Given the description of an element on the screen output the (x, y) to click on. 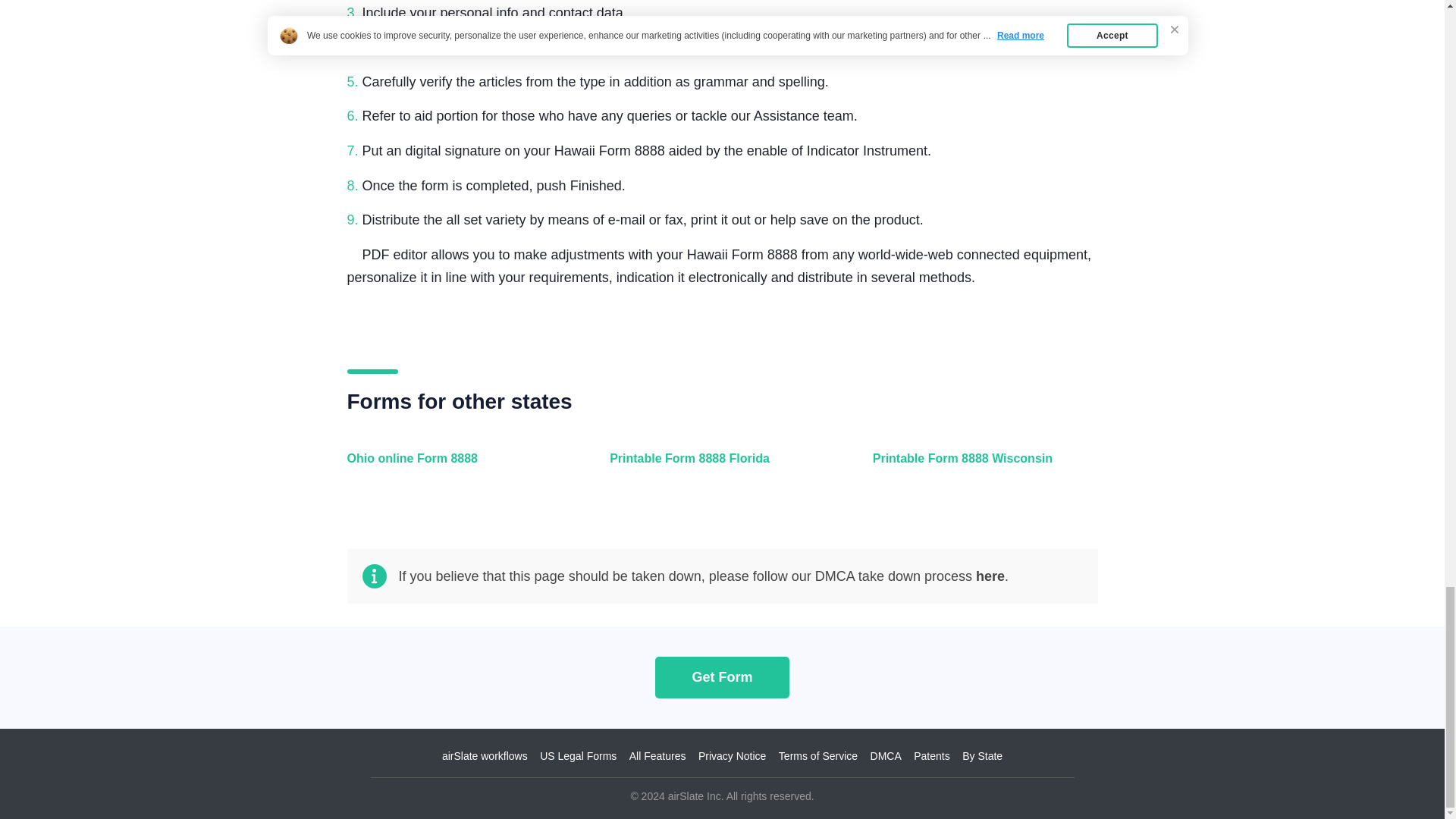
here (989, 575)
US Legal Forms (577, 756)
Printable Form 8888 Florida (718, 466)
Patents (931, 756)
Printable Form 8888 Wisconsin (981, 466)
Privacy Notice (731, 756)
All Features (656, 756)
By State (982, 756)
DMCA (885, 756)
Get Form (722, 676)
airSlate workflows (484, 756)
Terms of Service (817, 756)
Ohio online Form 8888 (456, 466)
